Given the description of an element on the screen output the (x, y) to click on. 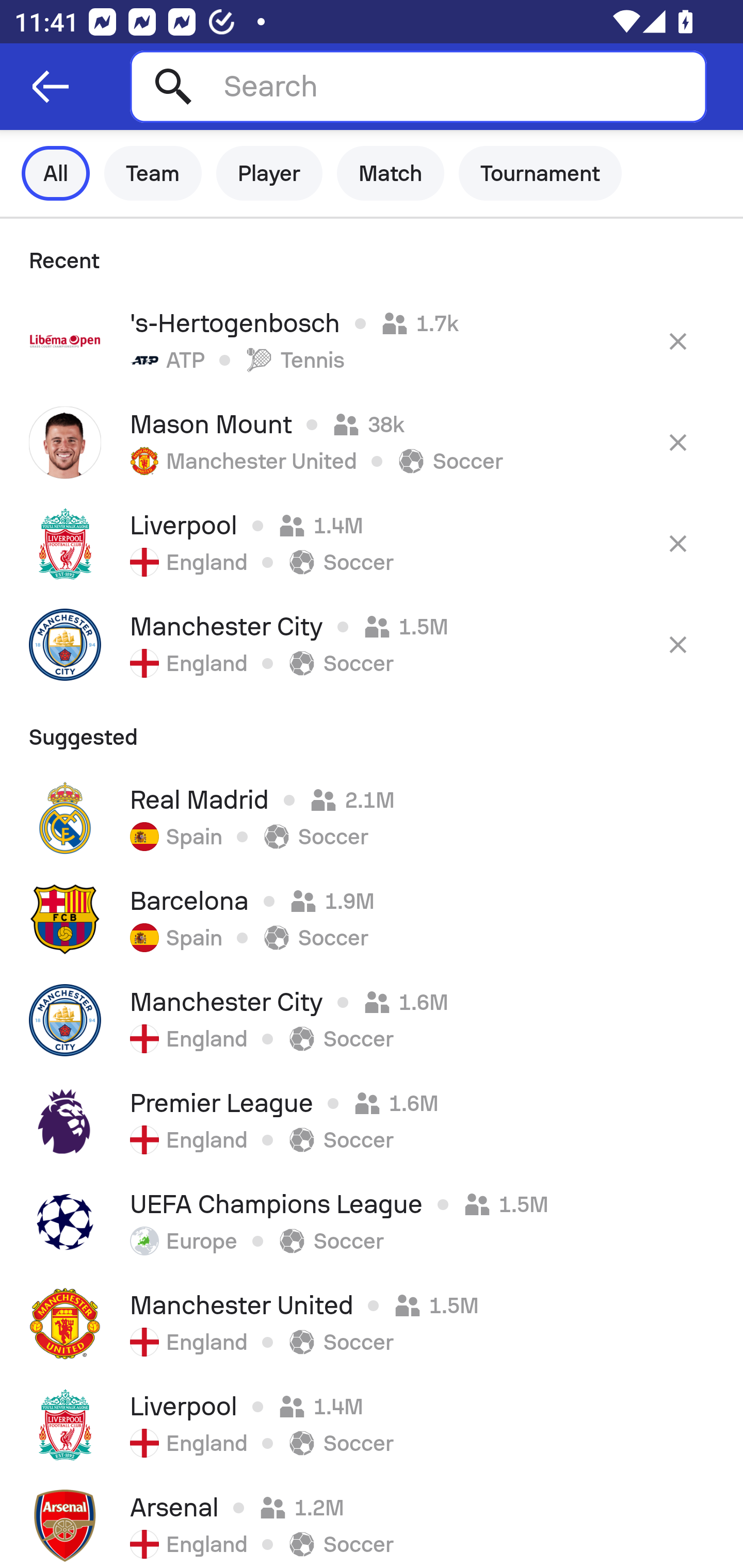
Navigate up (50, 86)
Search (418, 86)
All (55, 172)
Team (152, 172)
Player (268, 172)
Match (390, 172)
Tournament (540, 172)
Recent (371, 254)
's-Hertogenbosch 1.7k ATP Tennis (371, 341)
Mason Mount 38k Manchester United Soccer (371, 442)
Liverpool 1.4M England Soccer (371, 543)
Manchester City 1.5M England Soccer (371, 644)
Suggested (371, 730)
Real Madrid 2.1M Spain Soccer (371, 817)
Barcelona 1.9M Spain Soccer (371, 918)
Manchester City 1.6M England Soccer (371, 1019)
Premier League 1.6M England Soccer (371, 1120)
UEFA Champions League 1.5M Europe Soccer (371, 1222)
Manchester United 1.5M England Soccer (371, 1323)
Liverpool 1.4M England Soccer (371, 1424)
Arsenal 1.2M England Soccer (371, 1521)
